Given the description of an element on the screen output the (x, y) to click on. 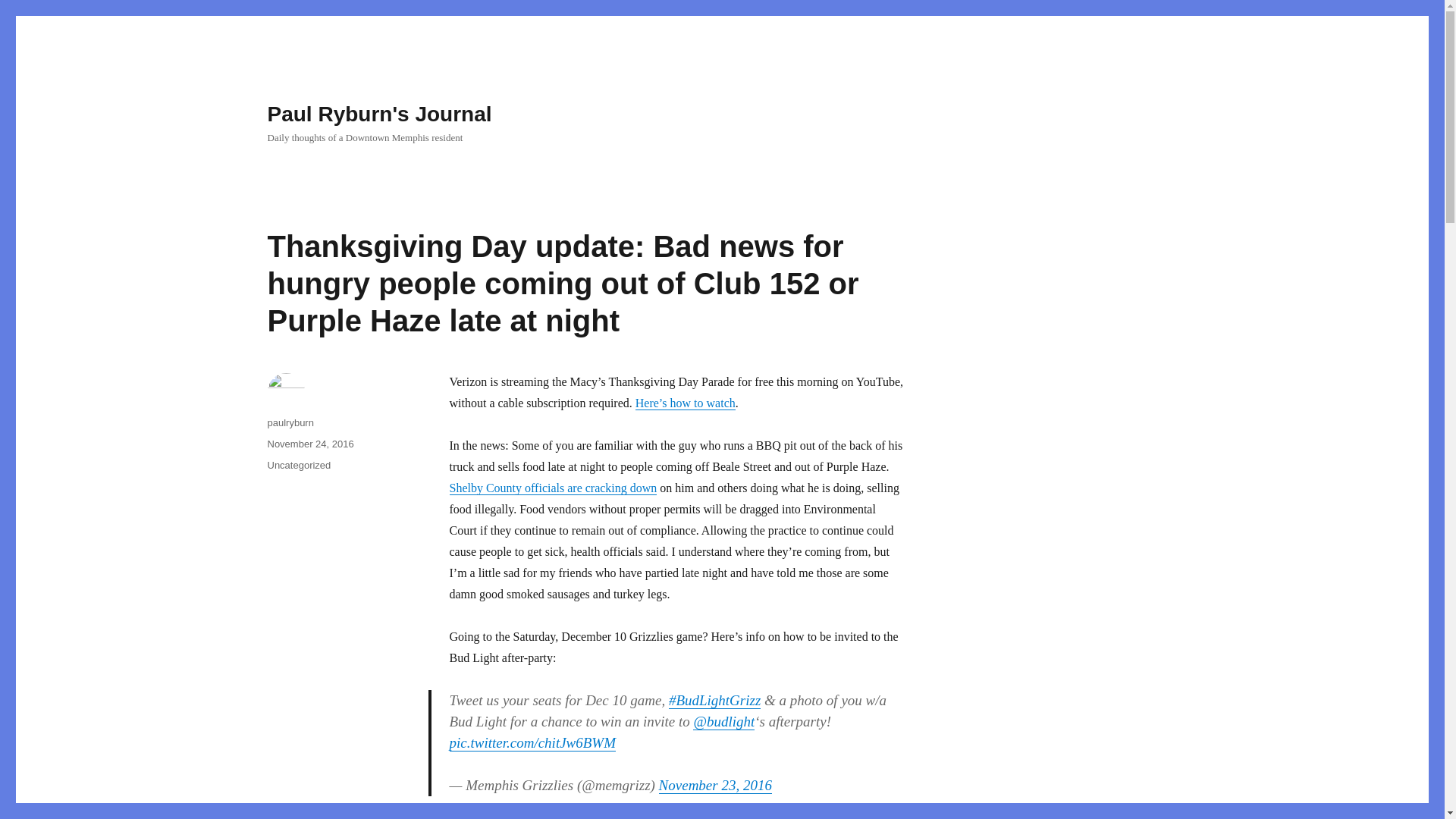
Shelby County officials are cracking down (552, 487)
Uncategorized (298, 464)
Paul Ryburn's Journal (379, 114)
paulryburn (289, 422)
November 24, 2016 (309, 443)
November 23, 2016 (715, 785)
